Given the description of an element on the screen output the (x, y) to click on. 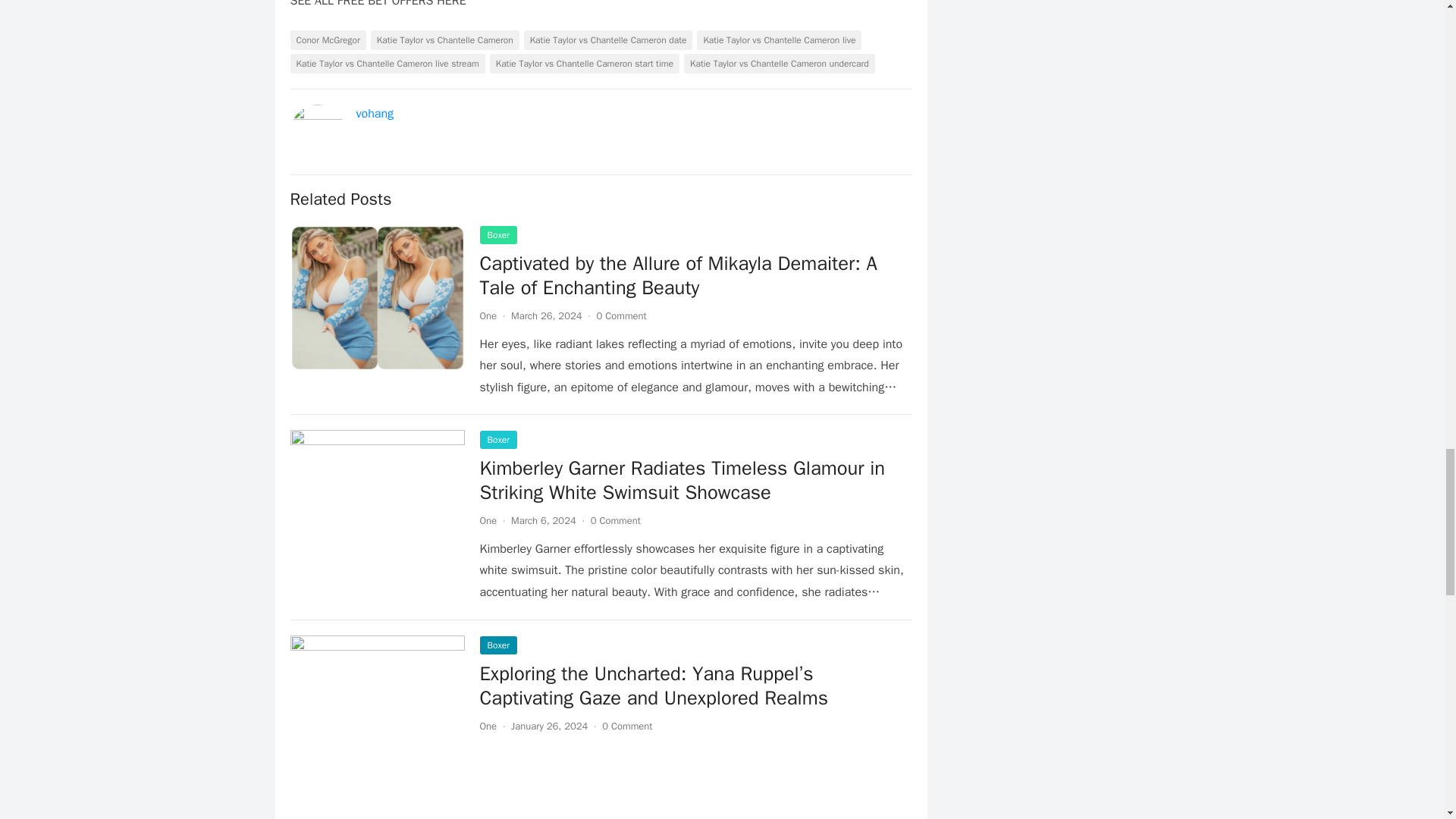
vohang (375, 113)
Katie Taylor vs Chantelle Cameron date (608, 39)
Posts by One (487, 315)
0 Comment (620, 315)
Katie Taylor vs Chantelle Cameron live (779, 39)
Boxer (497, 235)
Conor McGregor (327, 39)
Posts by One (487, 725)
Katie Taylor vs Chantelle Cameron undercard (779, 63)
